Given the description of an element on the screen output the (x, y) to click on. 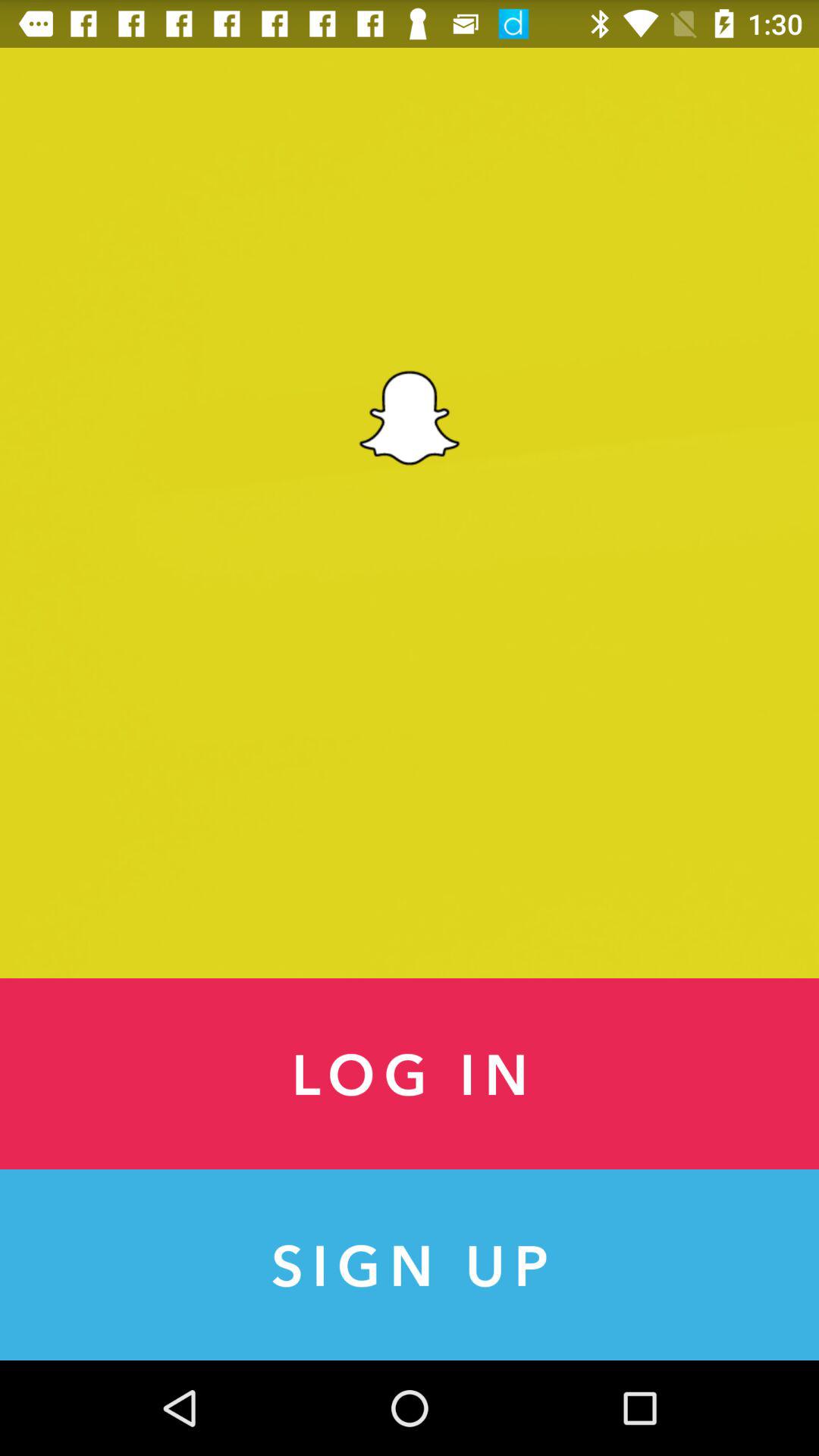
tap log in (409, 1073)
